Given the description of an element on the screen output the (x, y) to click on. 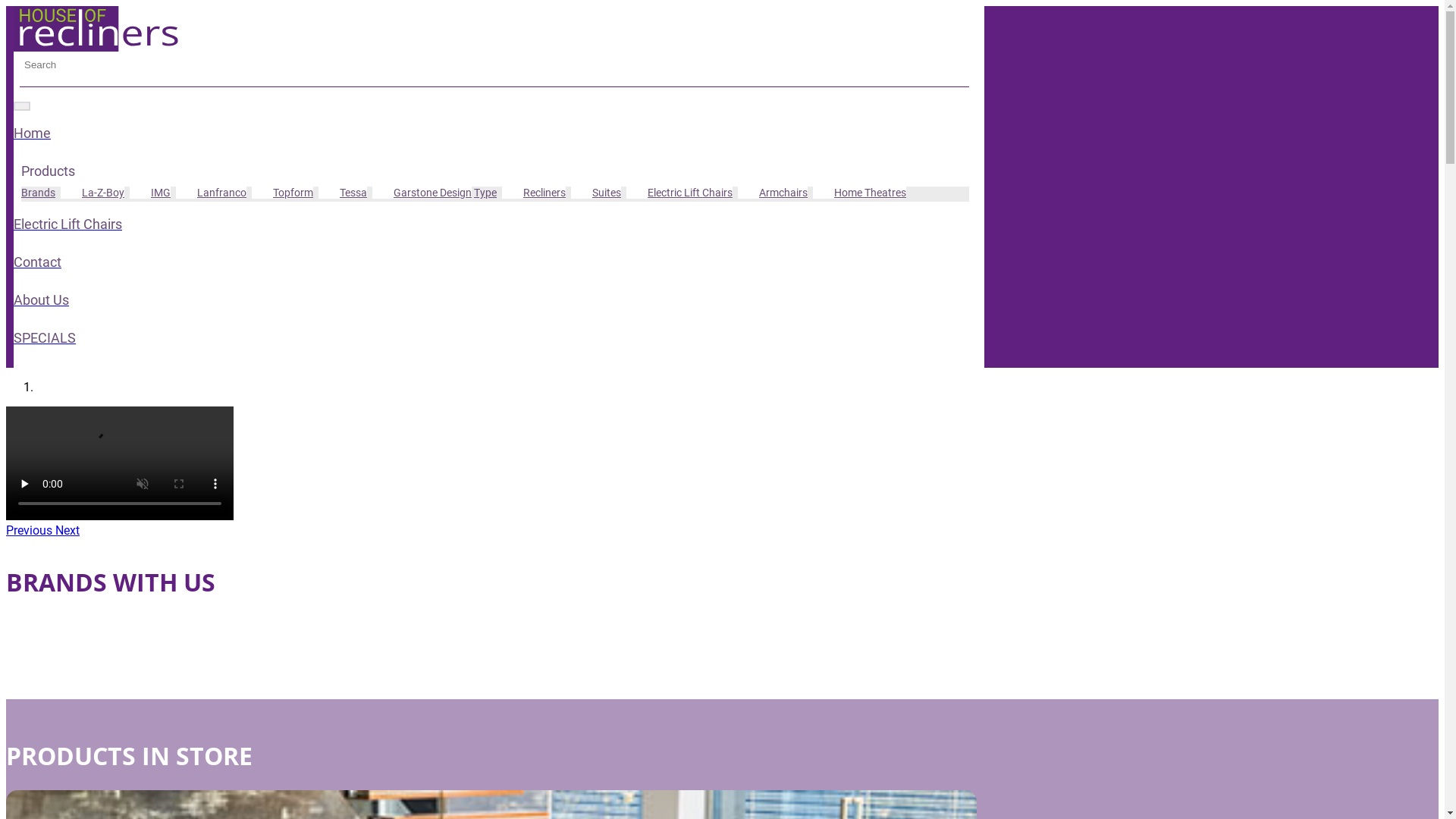
About Us Element type: text (494, 317)
Contact Element type: text (494, 280)
Electric Lift Chairs Element type: text (494, 242)
Electric Lift Chairs Element type: text (679, 192)
Home Element type: text (494, 151)
Brands Element type: text (38, 192)
Next Element type: text (67, 530)
La-Z-Boy Element type: text (92, 192)
Topform Element type: text (282, 192)
Home Theatres Element type: text (859, 192)
Type Element type: text (484, 192)
Tessa Element type: text (342, 192)
Armchairs Element type: text (772, 192)
Recliners Element type: text (533, 192)
Previous Element type: text (30, 530)
Lanfranco Element type: text (210, 192)
Garstone Design Element type: text (421, 192)
IMG Element type: text (149, 192)
SPECIALS Element type: text (494, 355)
Suites Element type: text (596, 192)
